Given the description of an element on the screen output the (x, y) to click on. 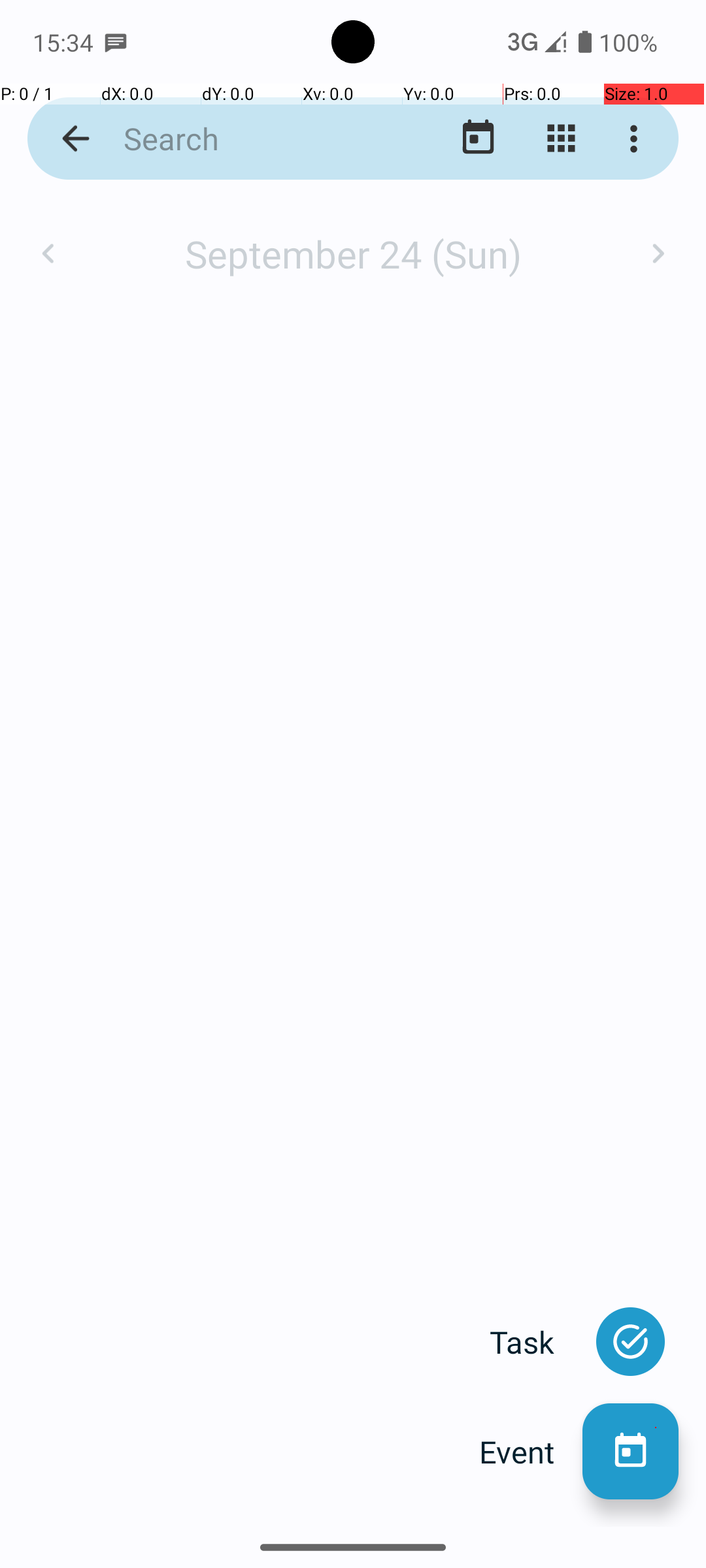
Task Element type: android.widget.TextView (535, 1341)
Event Element type: android.widget.TextView (530, 1451)
September 24 (Sun) Element type: android.widget.TextView (352, 253)
